Given the description of an element on the screen output the (x, y) to click on. 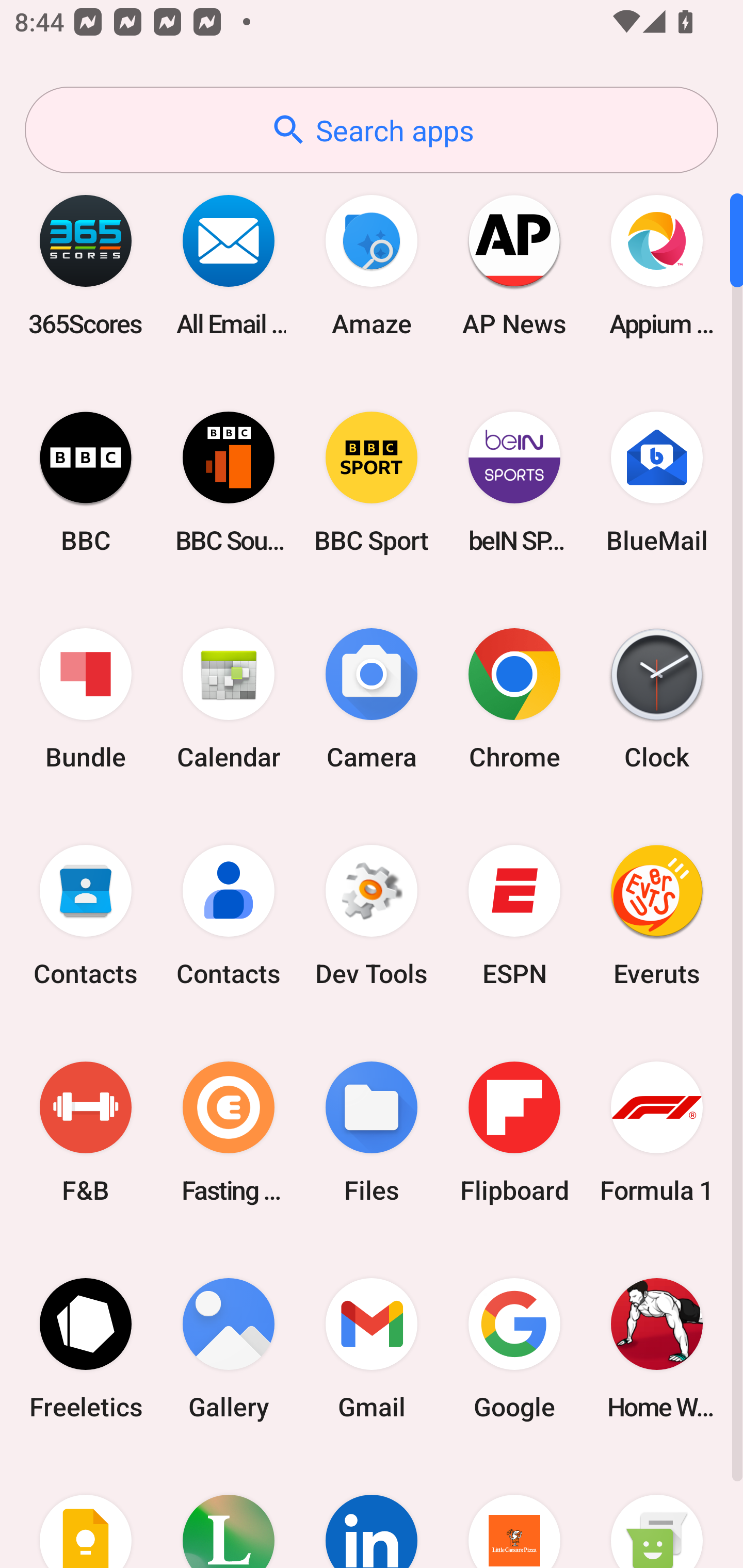
  Search apps (371, 130)
365Scores (85, 264)
All Email Connect (228, 264)
Amaze (371, 264)
AP News (514, 264)
Appium Settings (656, 264)
BBC (85, 482)
BBC Sounds (228, 482)
BBC Sport (371, 482)
beIN SPORTS (514, 482)
BlueMail (656, 482)
Bundle (85, 699)
Calendar (228, 699)
Camera (371, 699)
Chrome (514, 699)
Clock (656, 699)
Contacts (85, 915)
Contacts (228, 915)
Dev Tools (371, 915)
ESPN (514, 915)
Everuts (656, 915)
F&B (85, 1131)
Fasting Coach (228, 1131)
Files (371, 1131)
Flipboard (514, 1131)
Formula 1 (656, 1131)
Freeletics (85, 1348)
Gallery (228, 1348)
Gmail (371, 1348)
Google (514, 1348)
Home Workout (656, 1348)
Keep Notes (85, 1512)
Lifesum (228, 1512)
LinkedIn (371, 1512)
Little Caesars Pizza (514, 1512)
Messaging (656, 1512)
